Given the description of an element on the screen output the (x, y) to click on. 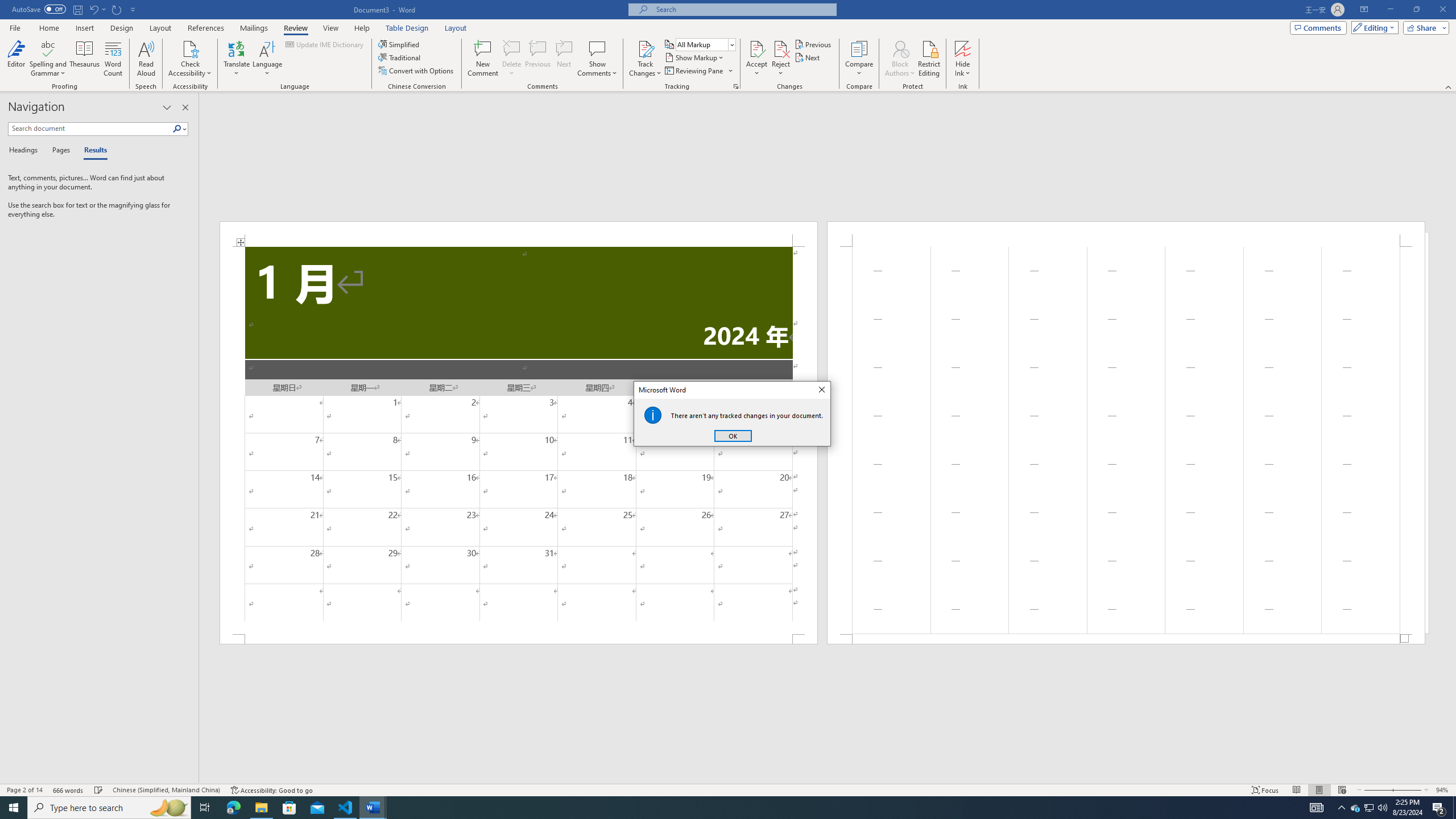
Delete (511, 48)
Reject and Move to Next (780, 48)
Accept (756, 58)
Display for Review (705, 44)
